Given the description of an element on the screen output the (x, y) to click on. 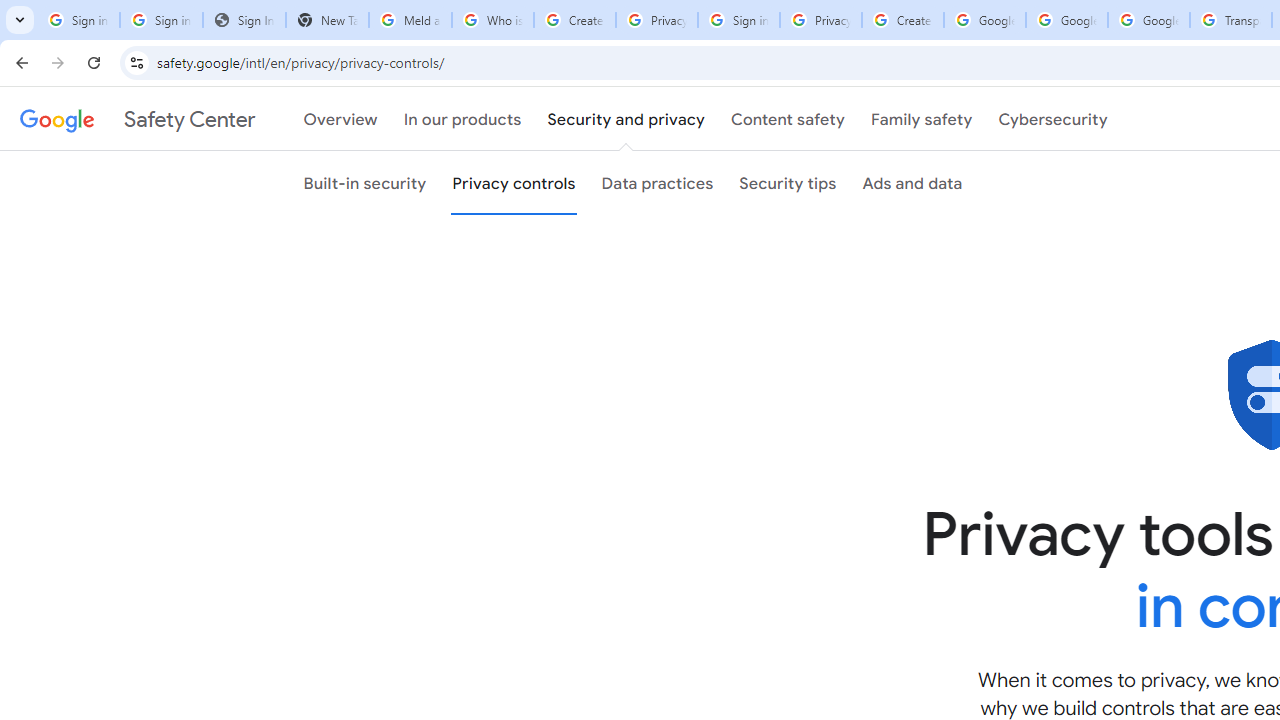
Data practices (657, 183)
Sign in - Google Accounts (161, 20)
Sign in - Google Accounts (738, 20)
In our products (462, 119)
Create your Google Account (574, 20)
Content safety (787, 119)
Family safety (921, 119)
Security tips (787, 183)
Ads and data (911, 183)
Security and privacy (626, 119)
Safety Center (137, 119)
